Given the description of an element on the screen output the (x, y) to click on. 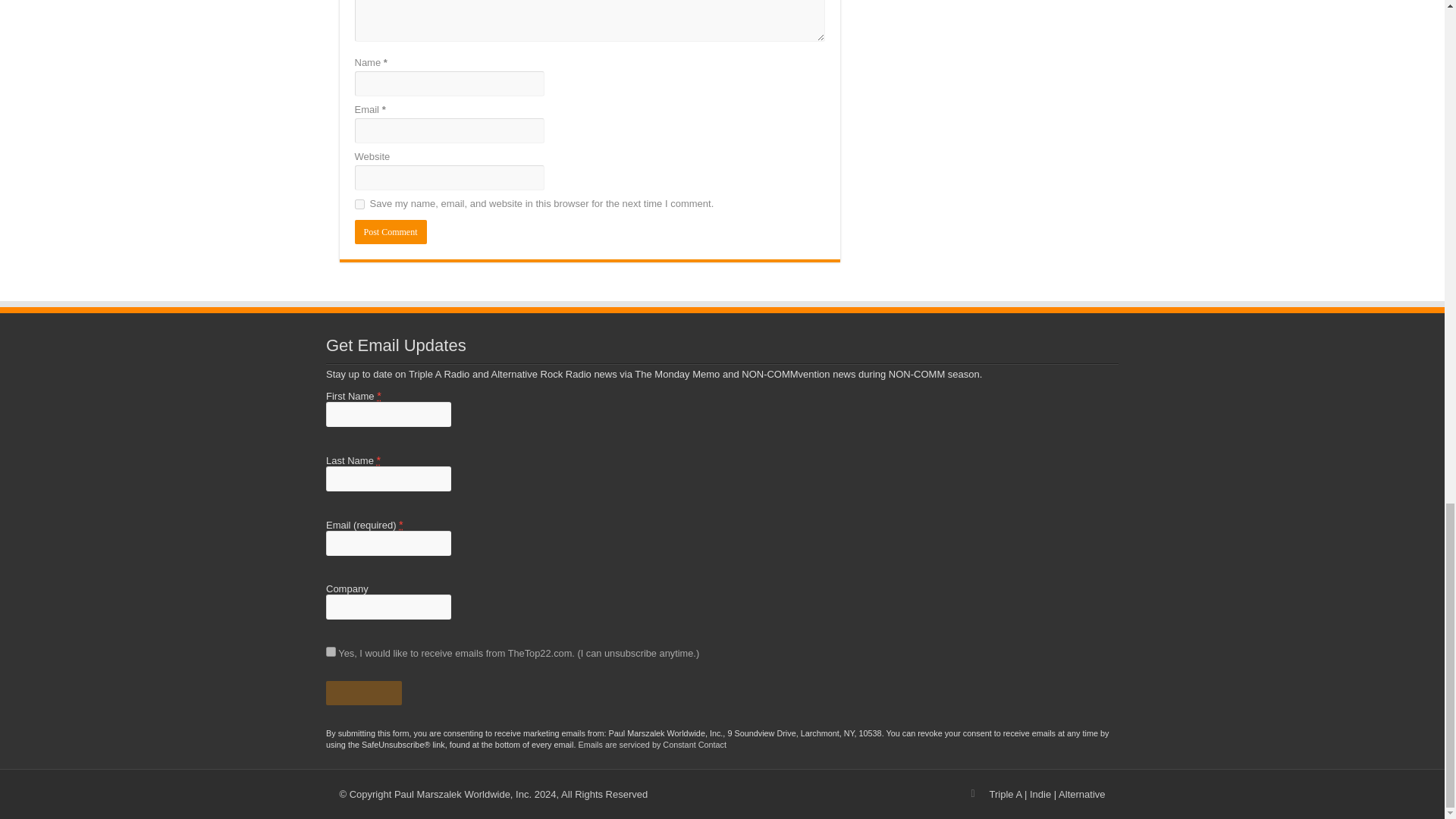
Post Comment (390, 232)
Click to Submit (363, 692)
yes (360, 204)
1 (331, 651)
